Given the description of an element on the screen output the (x, y) to click on. 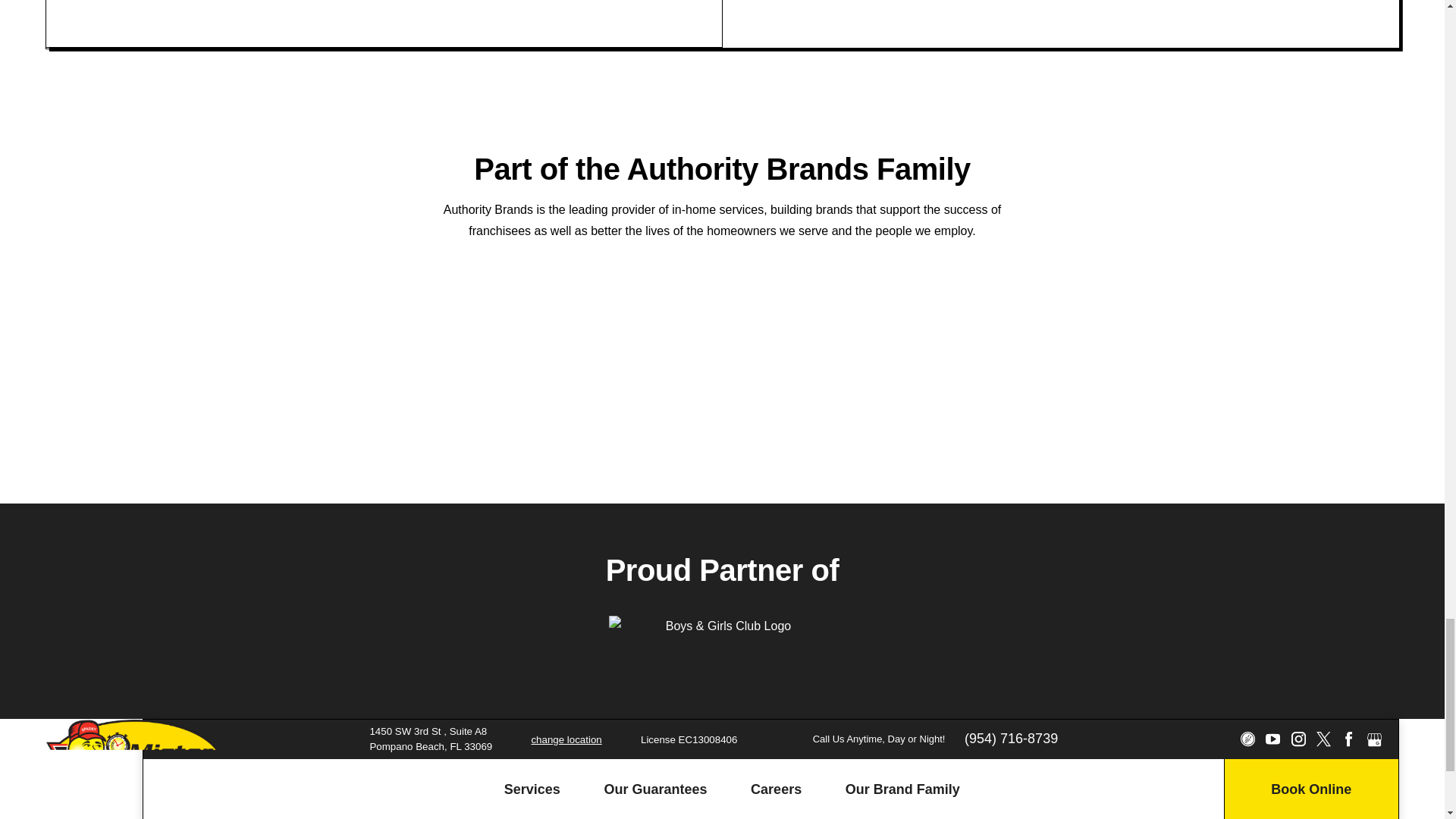
CareerPlug (1247, 739)
YouTube (1272, 739)
Twitter (1323, 739)
Facebook (1347, 739)
Instagram (1297, 739)
Google My Business (1374, 739)
